Given the description of an element on the screen output the (x, y) to click on. 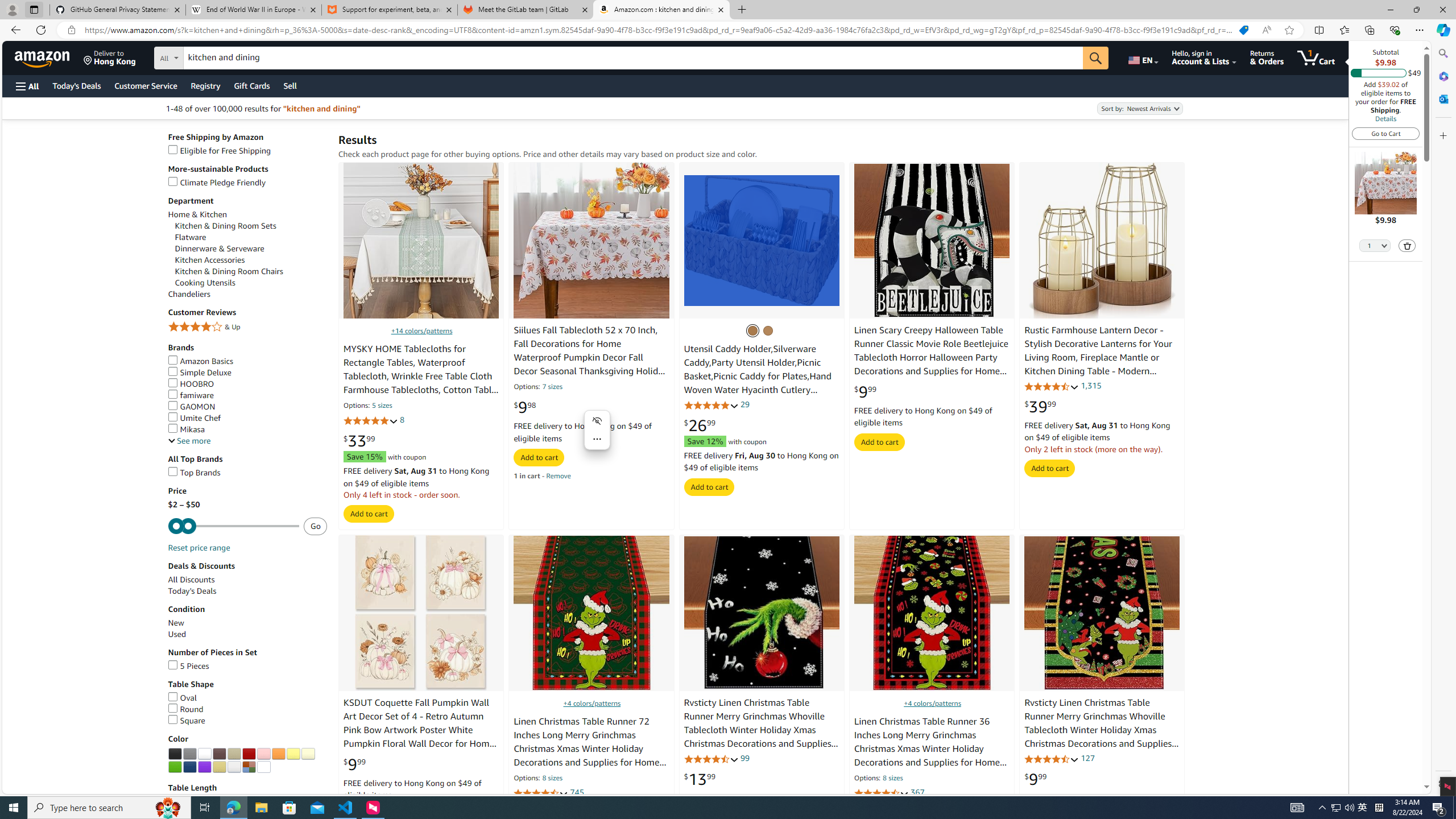
Kitchen Accessories (209, 259)
$13.99 (700, 779)
AutomationID: p_n_feature_twenty_browse-bin/3254102011 (234, 753)
AutomationID: p_n_feature_twenty_browse-bin/3254114011 (263, 766)
Amazon Basics (200, 360)
$9.98 (524, 407)
Go - Submit price range (315, 525)
Skip to main content (48, 56)
Silver (234, 766)
Flatware (250, 237)
Today's Deals (191, 590)
